Given the description of an element on the screen output the (x, y) to click on. 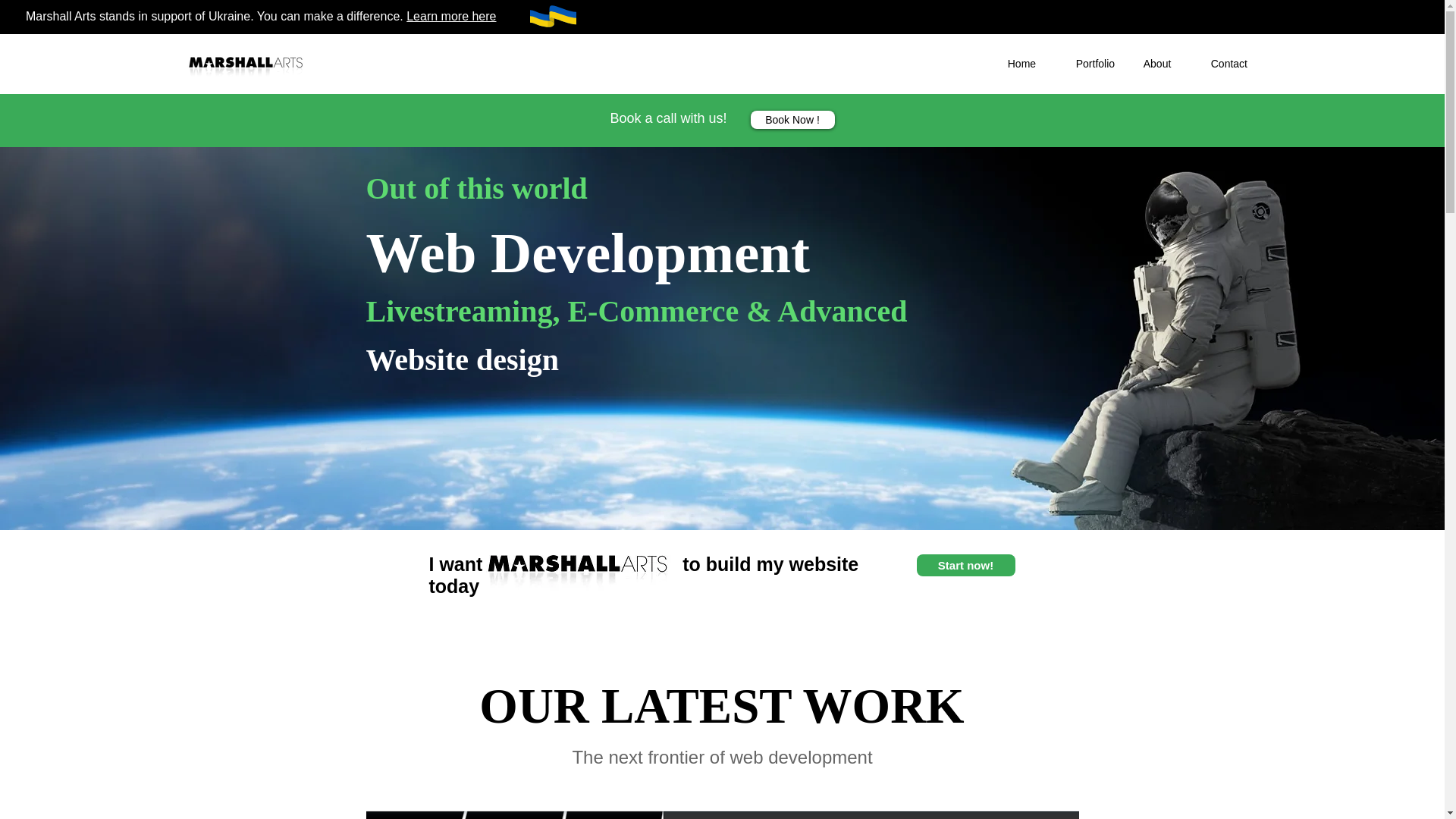
Contact (1232, 63)
Start now! (964, 565)
About (1165, 63)
Home (1029, 63)
Book Now ! (792, 119)
marshallarts logo - reflect 2.png (247, 63)
Learn more here (451, 15)
